Given the description of an element on the screen output the (x, y) to click on. 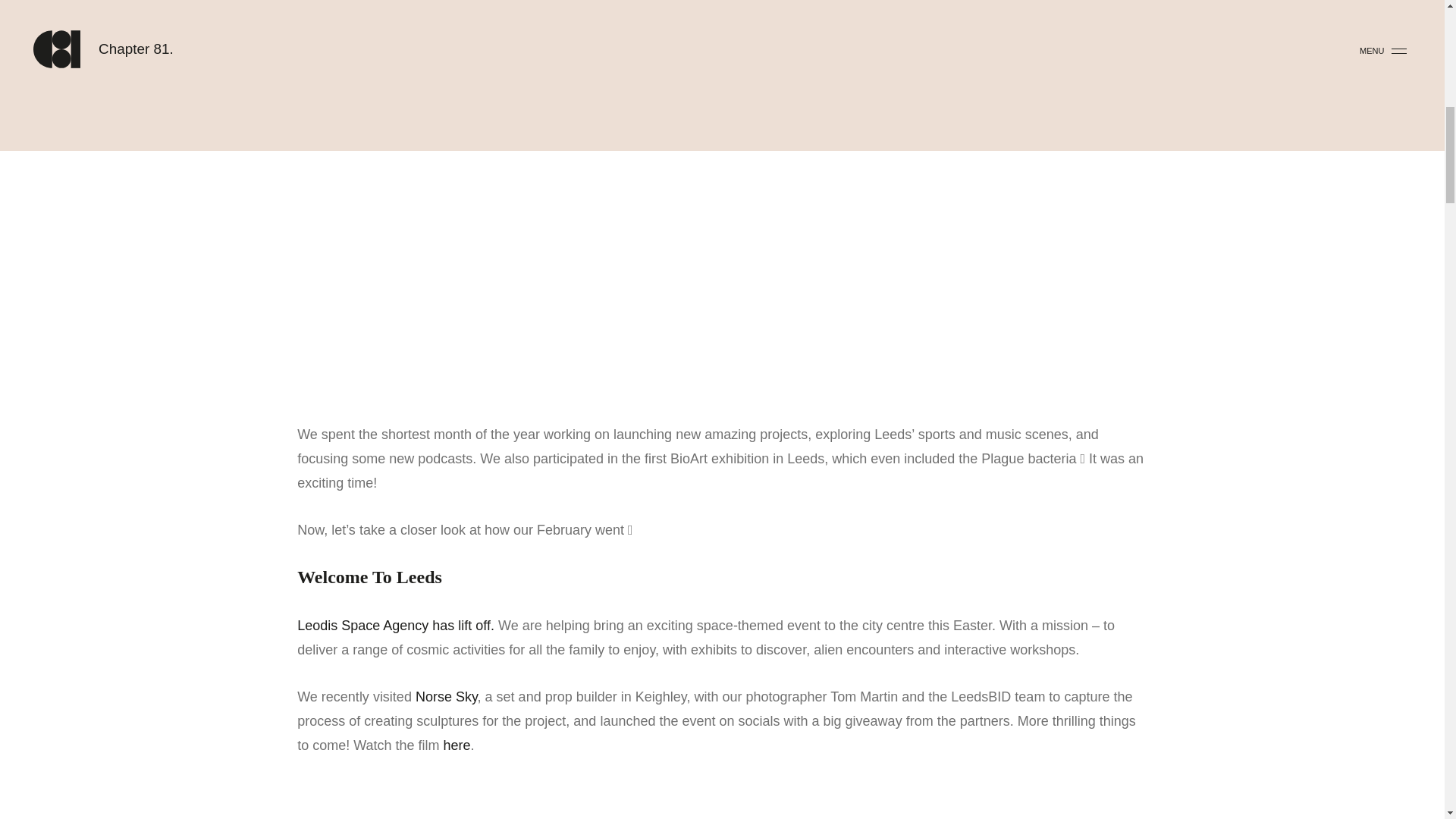
here (457, 744)
Norse Sky (445, 696)
Leodis Space Agency has lift off. (396, 625)
